Given the description of an element on the screen output the (x, y) to click on. 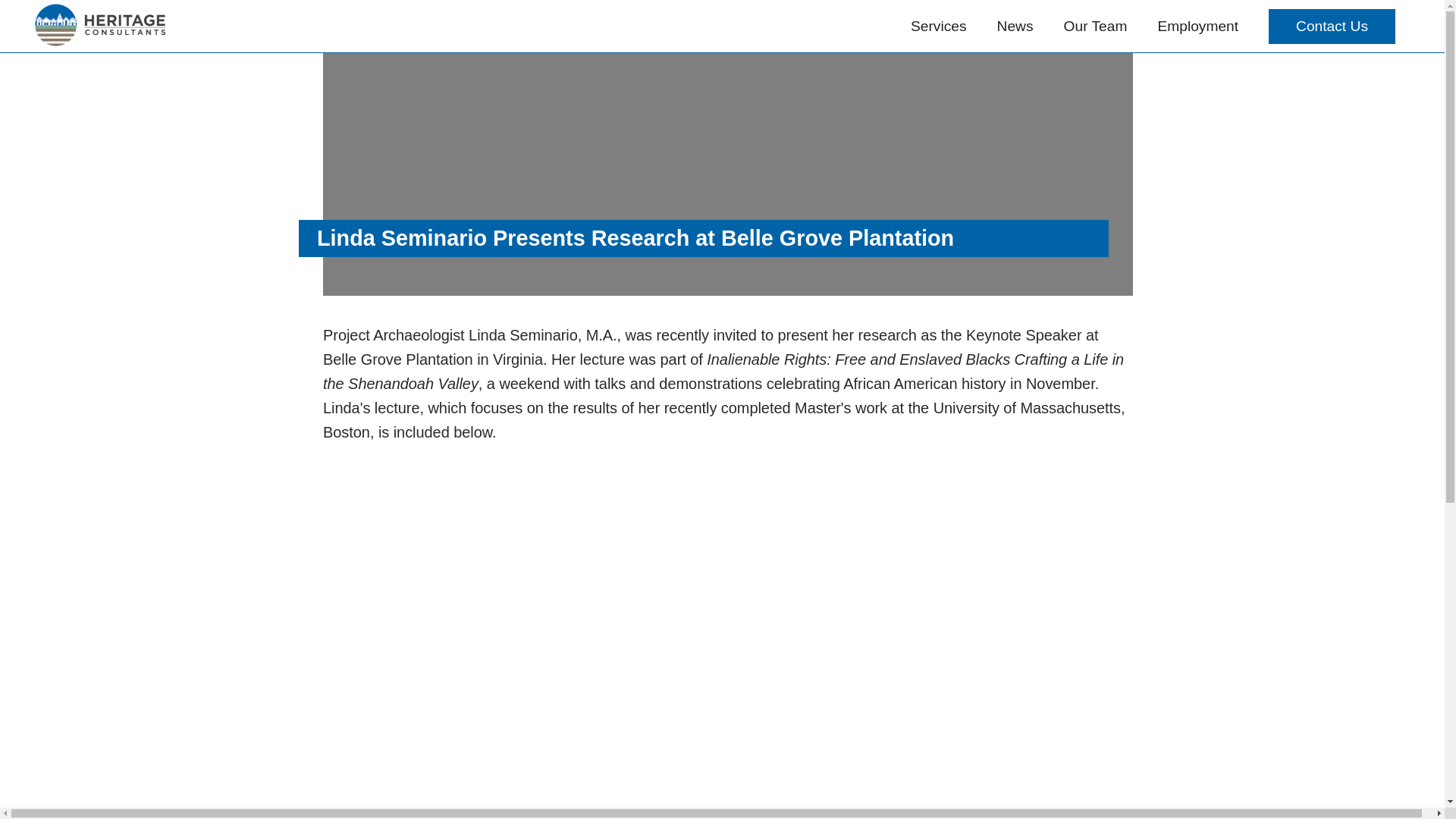
News (1015, 26)
Employment (1198, 26)
Our Team (1095, 26)
Contact Us (1331, 26)
Services (938, 26)
